Given the description of an element on the screen output the (x, y) to click on. 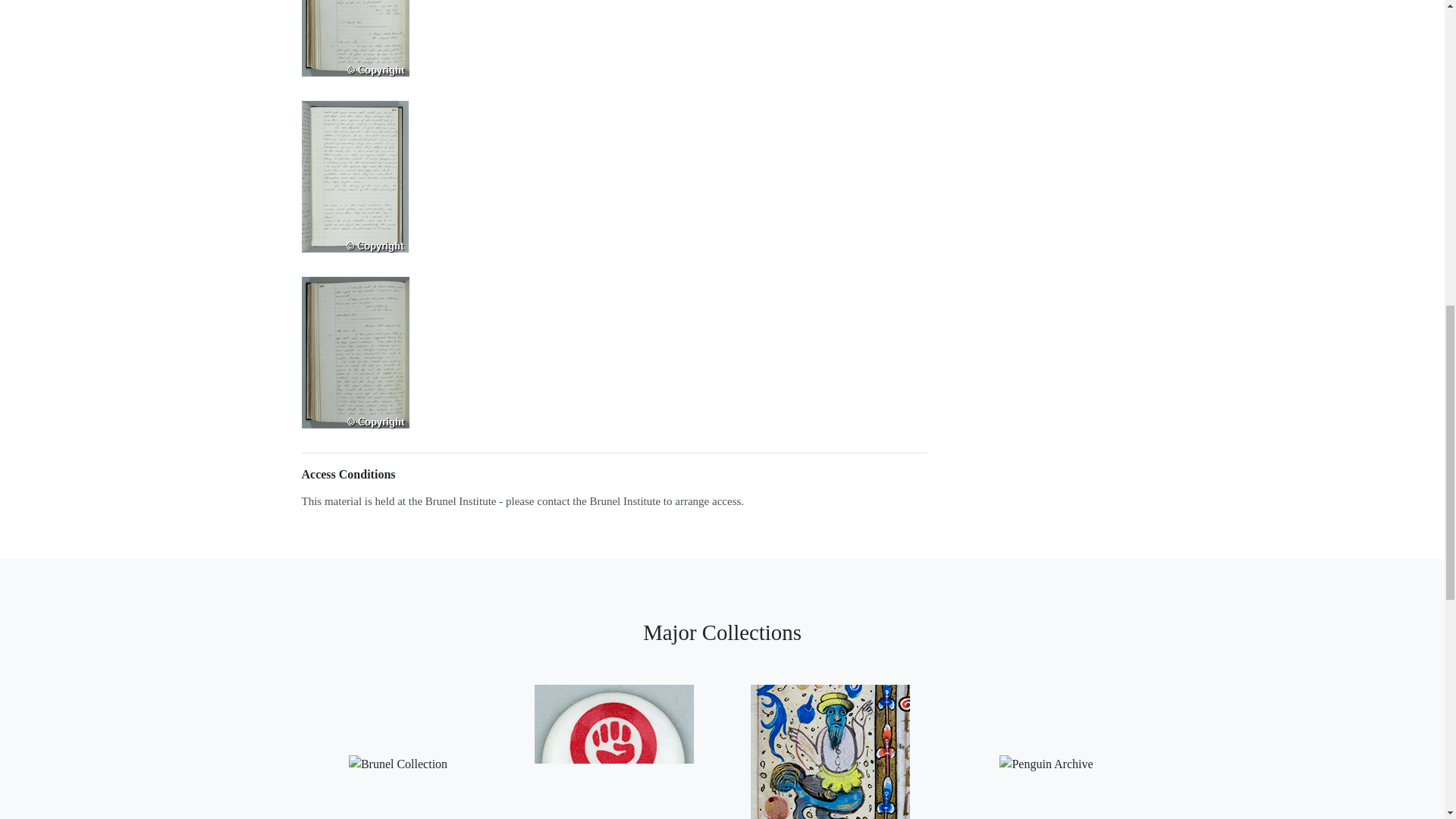
Feminist Archive South (613, 744)
Penguin Archive (1045, 744)
Brunel Collection (398, 744)
Medieval Manuscripts (830, 744)
